Given the description of an element on the screen output the (x, y) to click on. 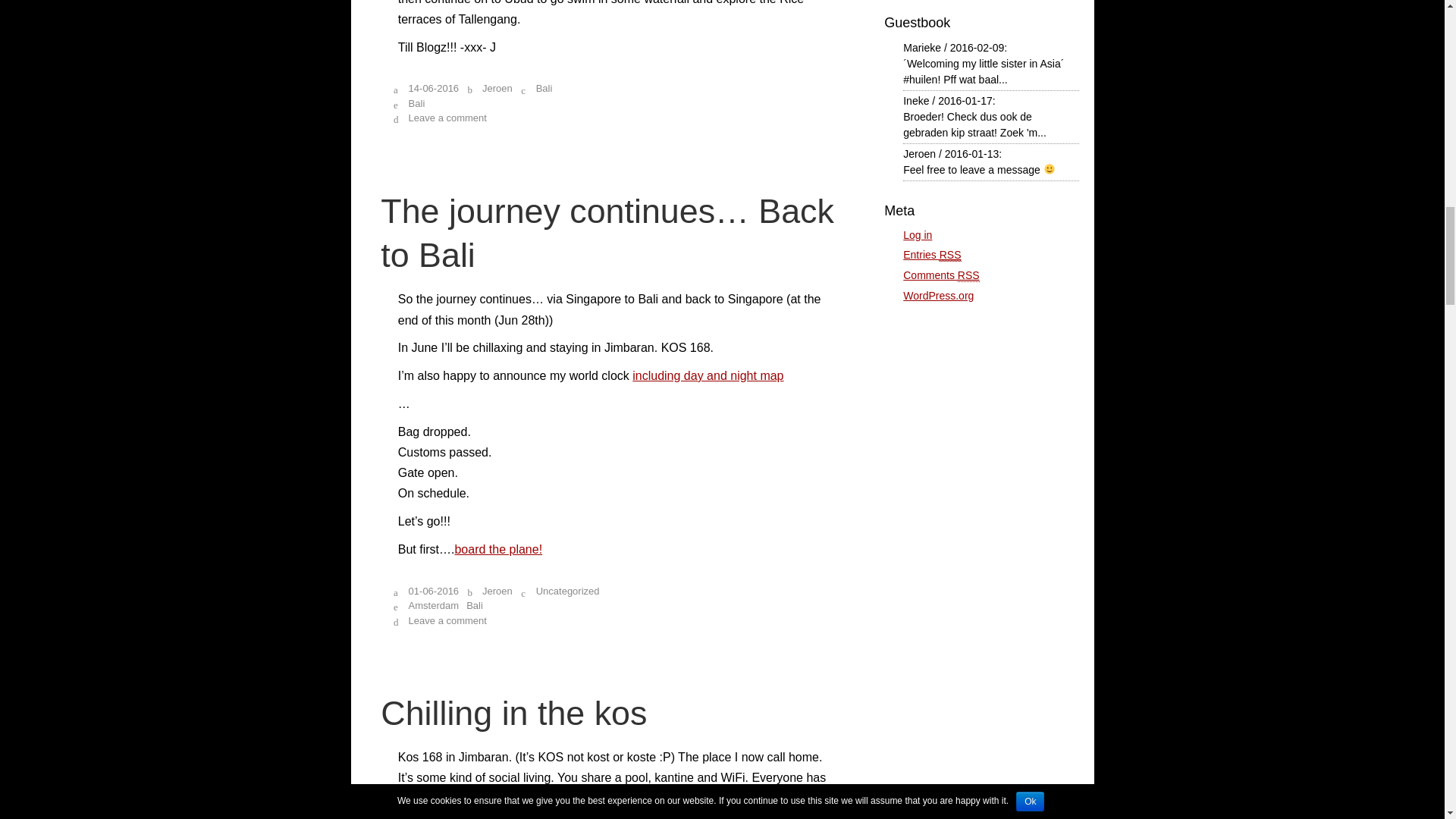
Bali (544, 88)
board the plane! (497, 549)
01-06-2016 (434, 591)
Posts by Jeroen (496, 591)
Leave a comment (447, 620)
Uncategorized (567, 591)
14-06-2016 (434, 88)
Chilling in the kos (513, 712)
Leave a comment (447, 117)
